Given the description of an element on the screen output the (x, y) to click on. 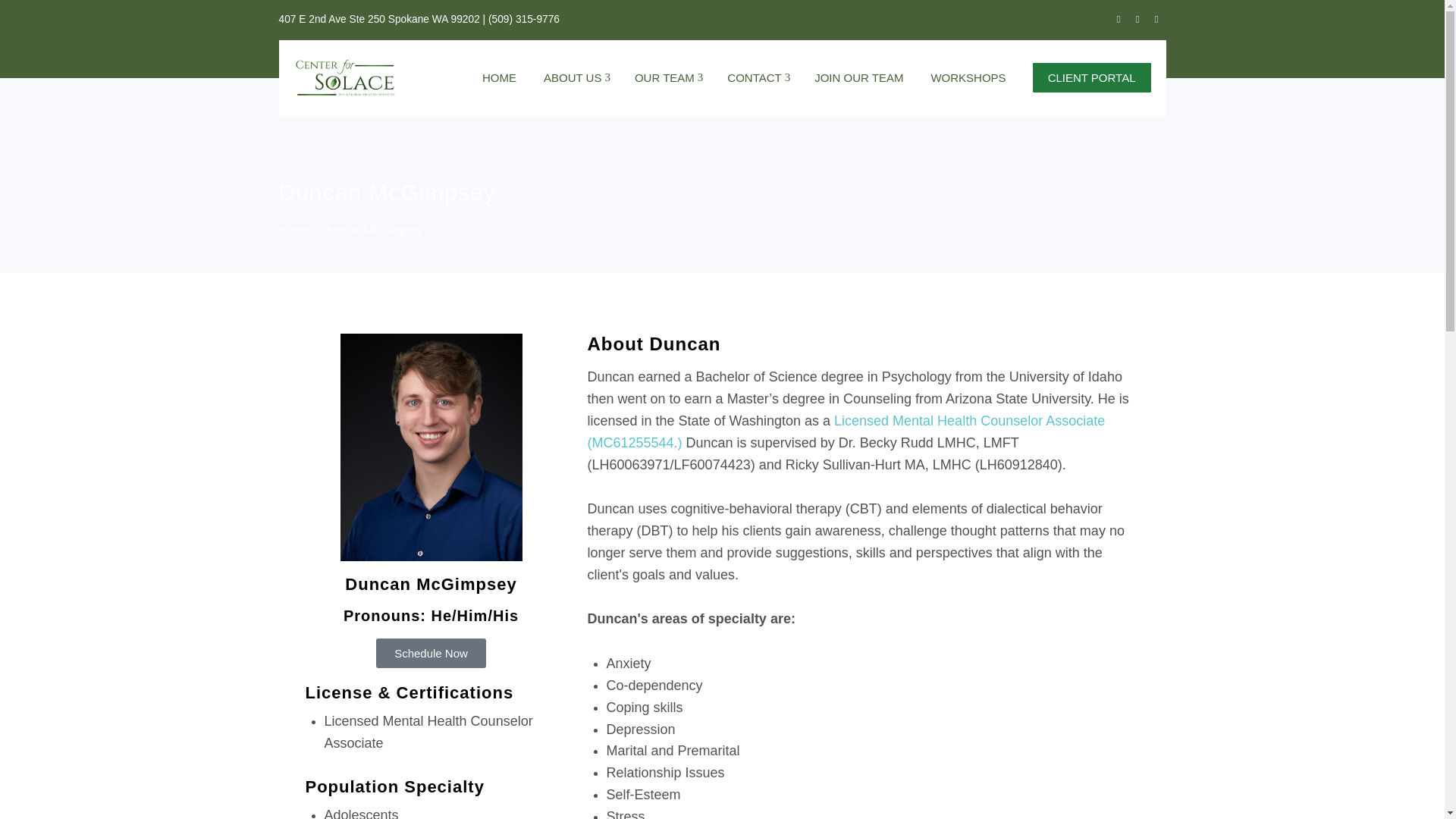
ABOUT US (575, 77)
OUR TEAM (667, 77)
WORKSHOPS (967, 77)
HOME (498, 77)
JOIN OUR TEAM (858, 77)
CONTACT (756, 77)
